Given the description of an element on the screen output the (x, y) to click on. 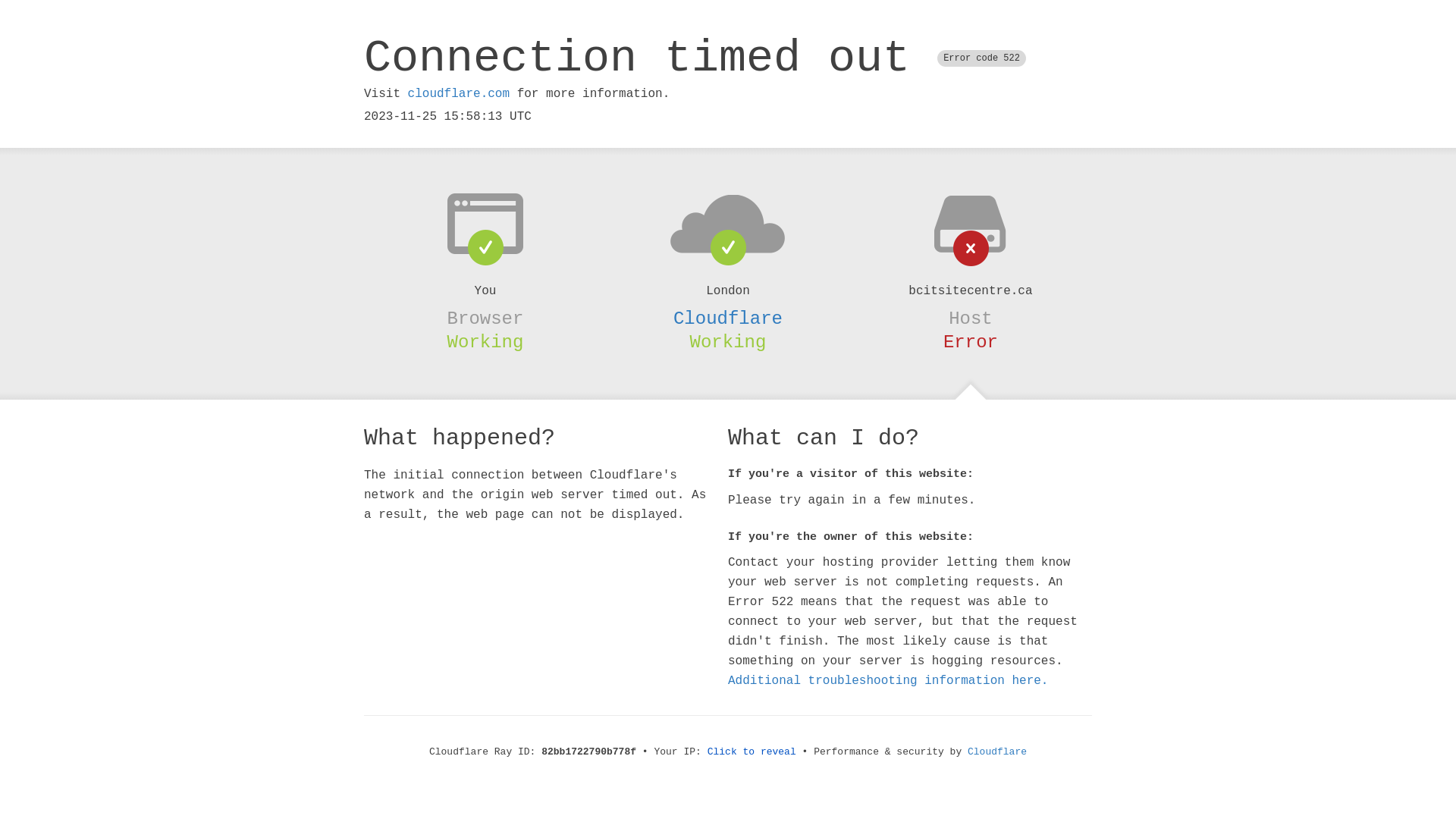
cloudflare.com Element type: text (458, 93)
Click to reveal Element type: text (751, 751)
Cloudflare Element type: text (727, 318)
Cloudflare Element type: text (996, 751)
Additional troubleshooting information here. Element type: text (888, 680)
